Given the description of an element on the screen output the (x, y) to click on. 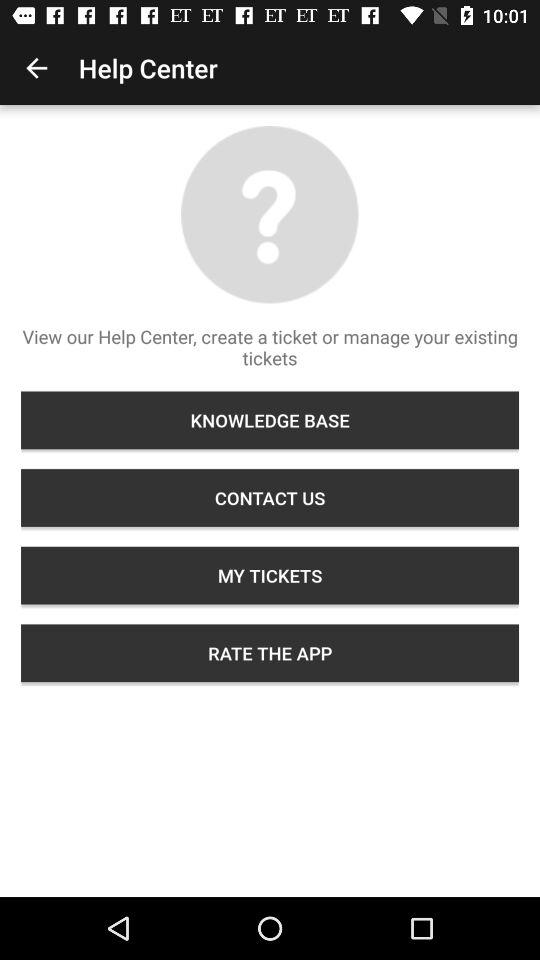
choose knowledge base (270, 420)
